Given the description of an element on the screen output the (x, y) to click on. 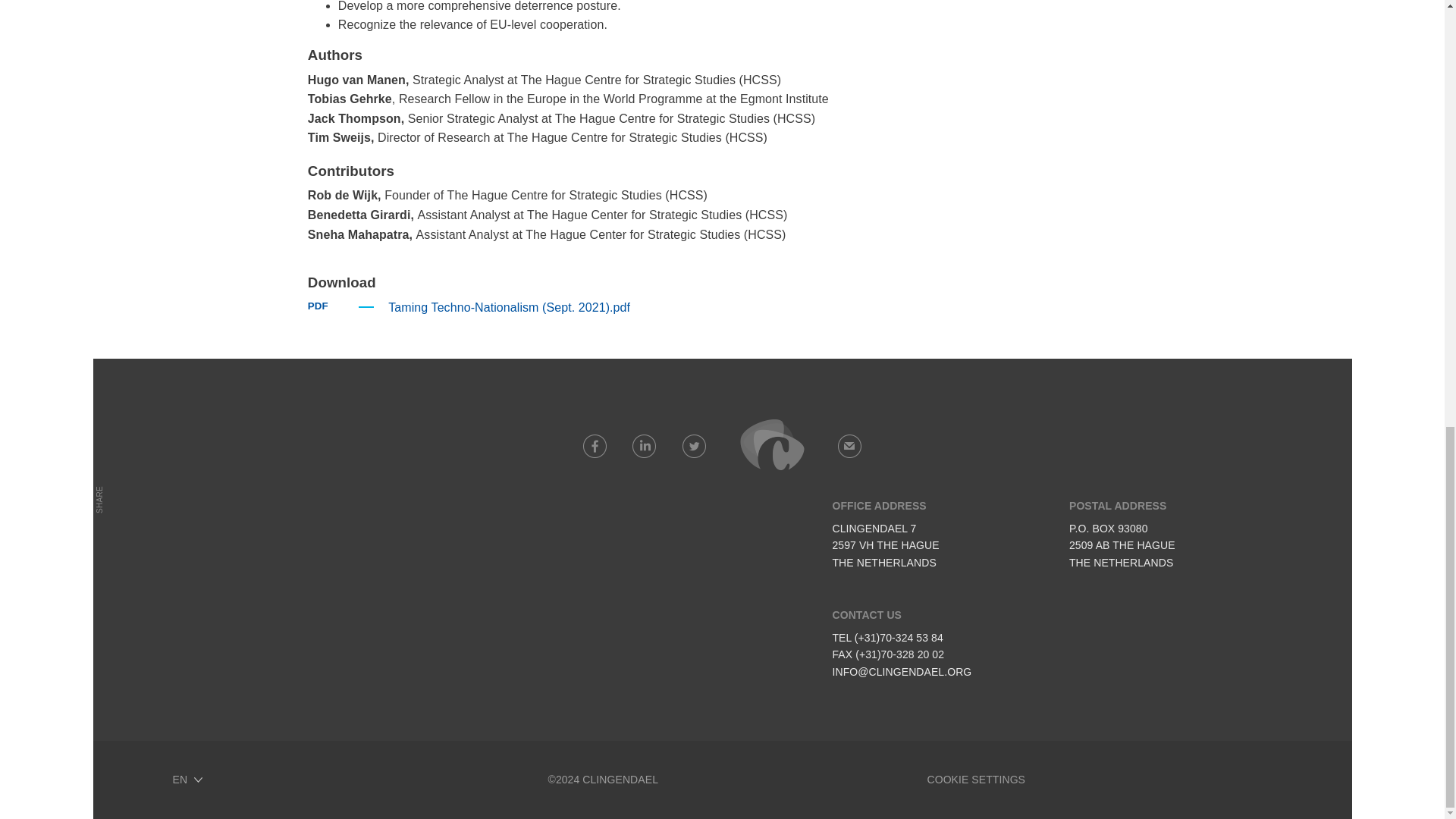
COOKIE SETTINGS (975, 779)
